Given the description of an element on the screen output the (x, y) to click on. 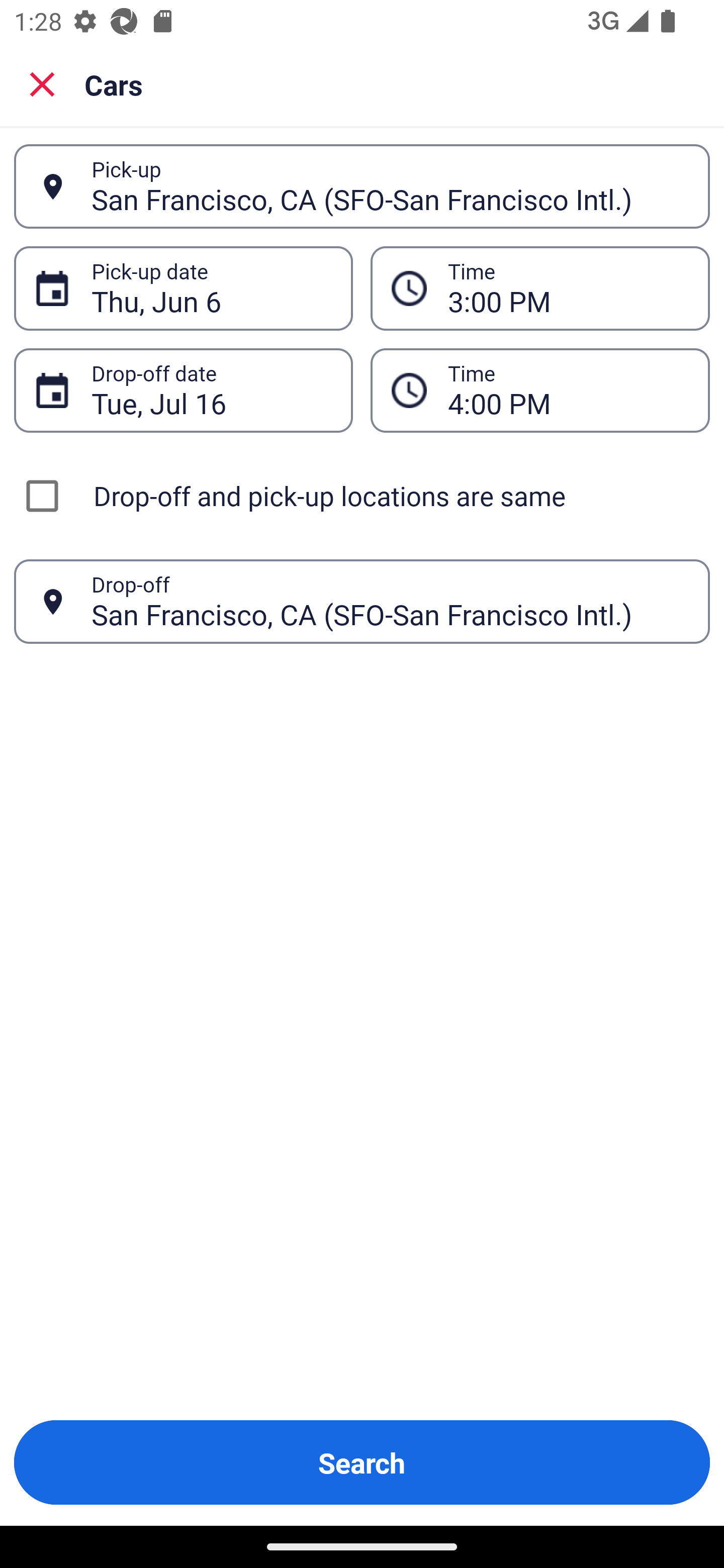
Close search screen (42, 84)
San Francisco, CA (SFO-San Francisco Intl.) (389, 186)
Thu, Jun 6 (211, 288)
3:00 PM (568, 288)
Tue, Jul 16 (211, 390)
4:00 PM (568, 390)
Drop-off and pick-up locations are same (361, 495)
San Francisco, CA (SFO-San Francisco Intl.) (389, 601)
Search Button Search (361, 1462)
